Given the description of an element on the screen output the (x, y) to click on. 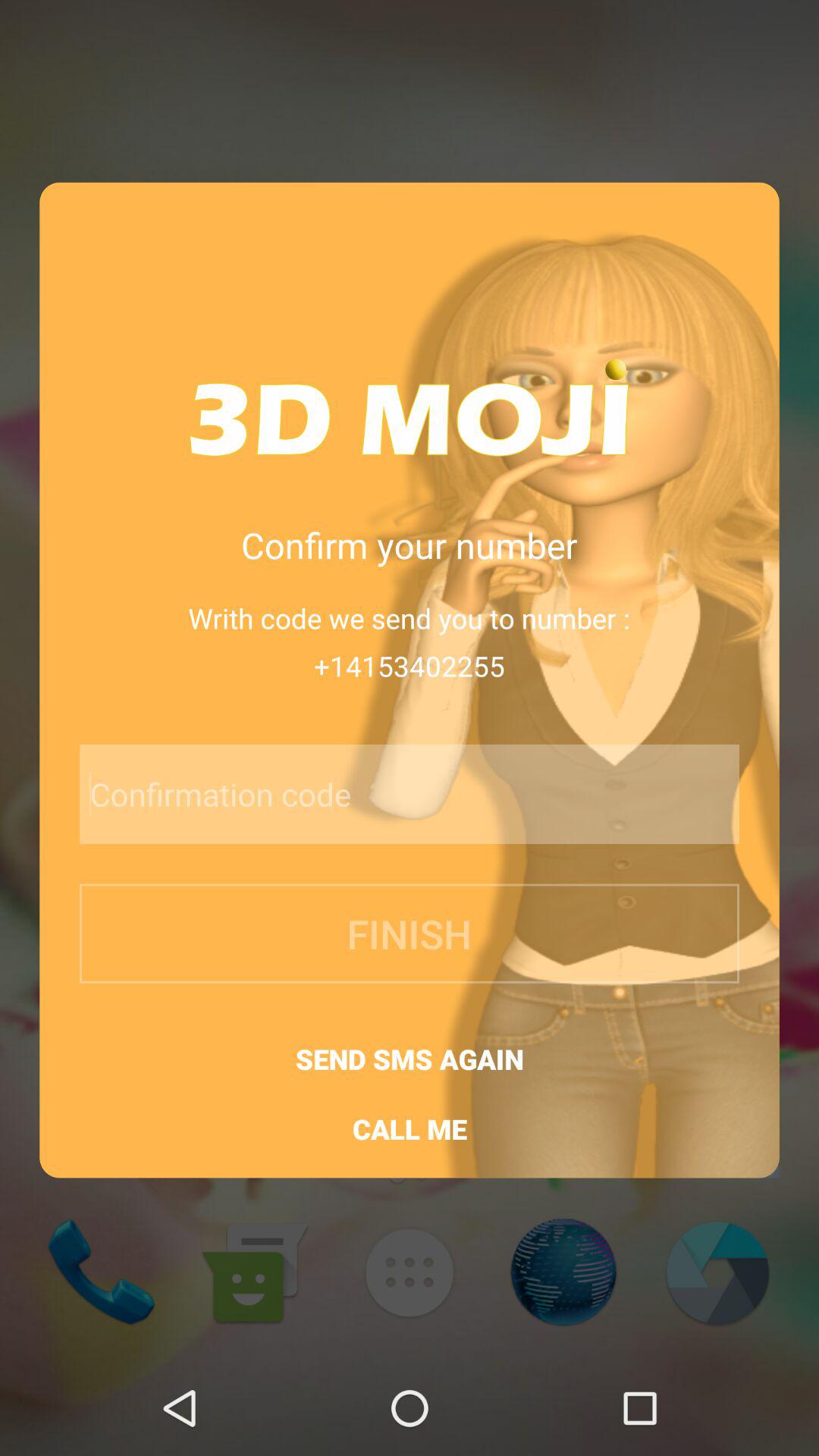
scroll until finish button (409, 933)
